Given the description of an element on the screen output the (x, y) to click on. 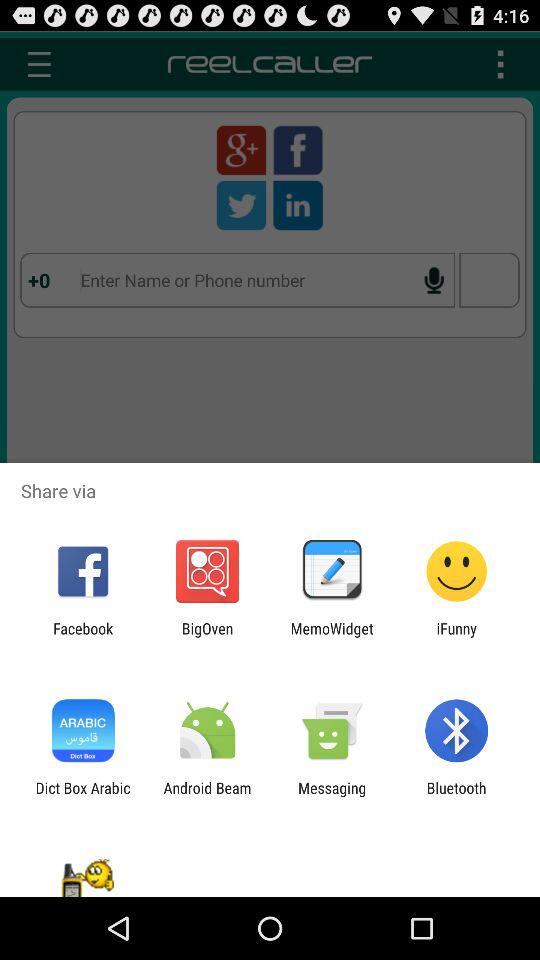
press the icon next to the messaging app (456, 796)
